Given the description of an element on the screen output the (x, y) to click on. 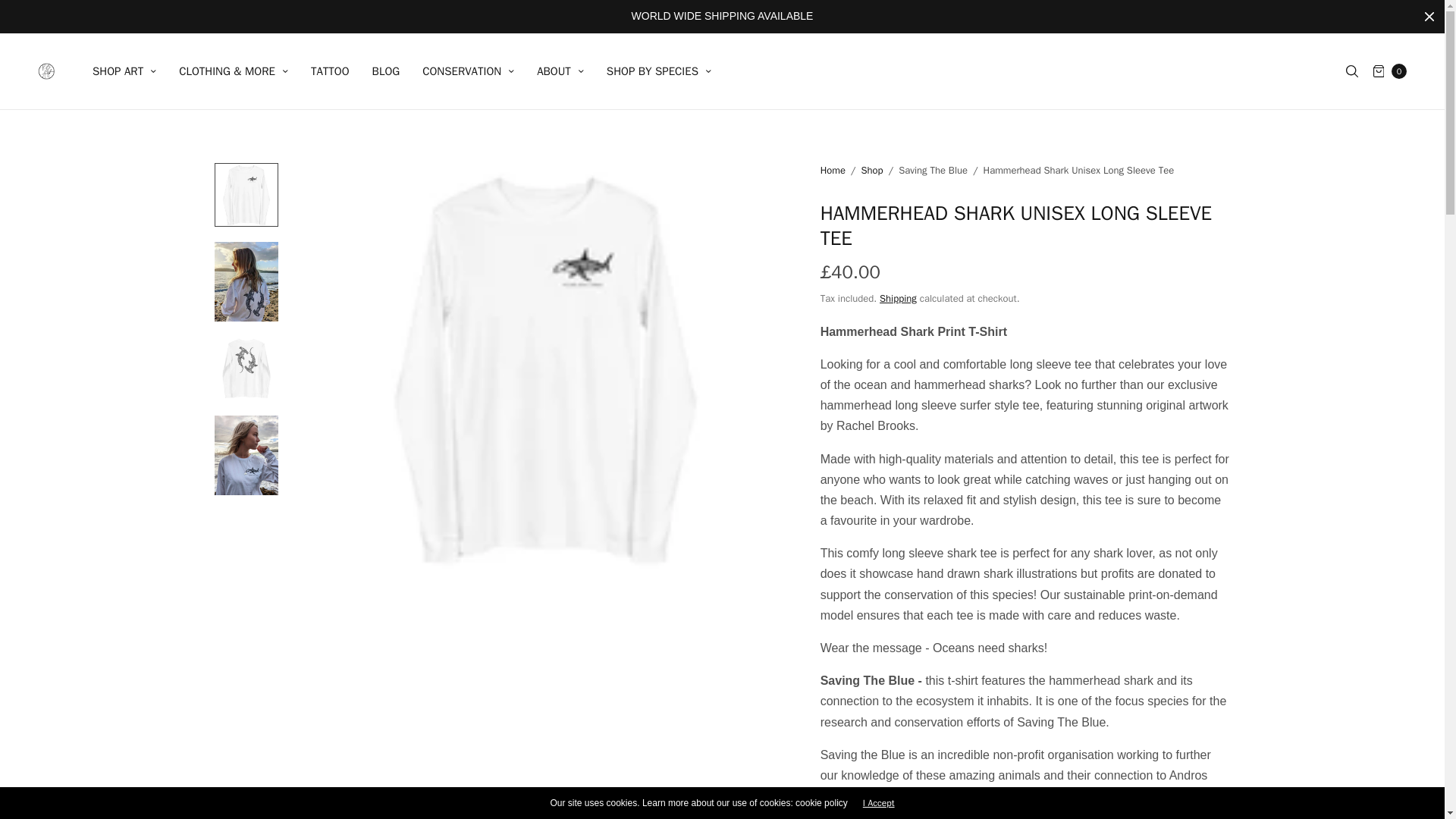
SHOP ART (124, 71)
ABOUT (560, 71)
SHOP ART (124, 71)
TATTOO (330, 71)
CONSERVATION (467, 71)
SHOP BY SPECIES (659, 71)
